Given the description of an element on the screen output the (x, y) to click on. 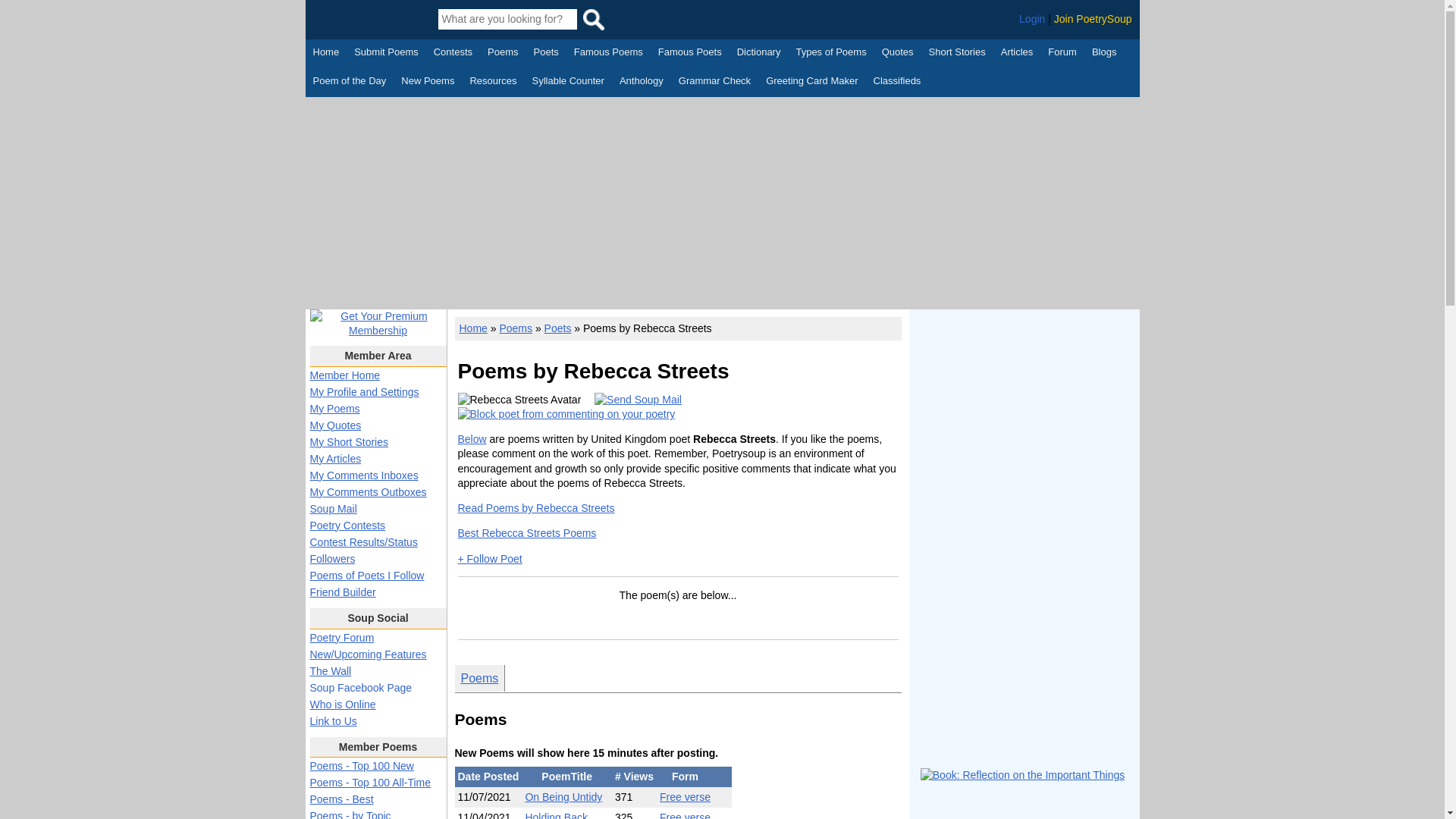
My Poems (333, 408)
Grammar Check (714, 82)
Short Stories (956, 53)
Famous Poets (690, 53)
Forum (1062, 53)
Famous Poems (608, 53)
Home (326, 53)
Poets (546, 53)
Syllable Counter (568, 82)
Blogs (1104, 53)
